Given the description of an element on the screen output the (x, y) to click on. 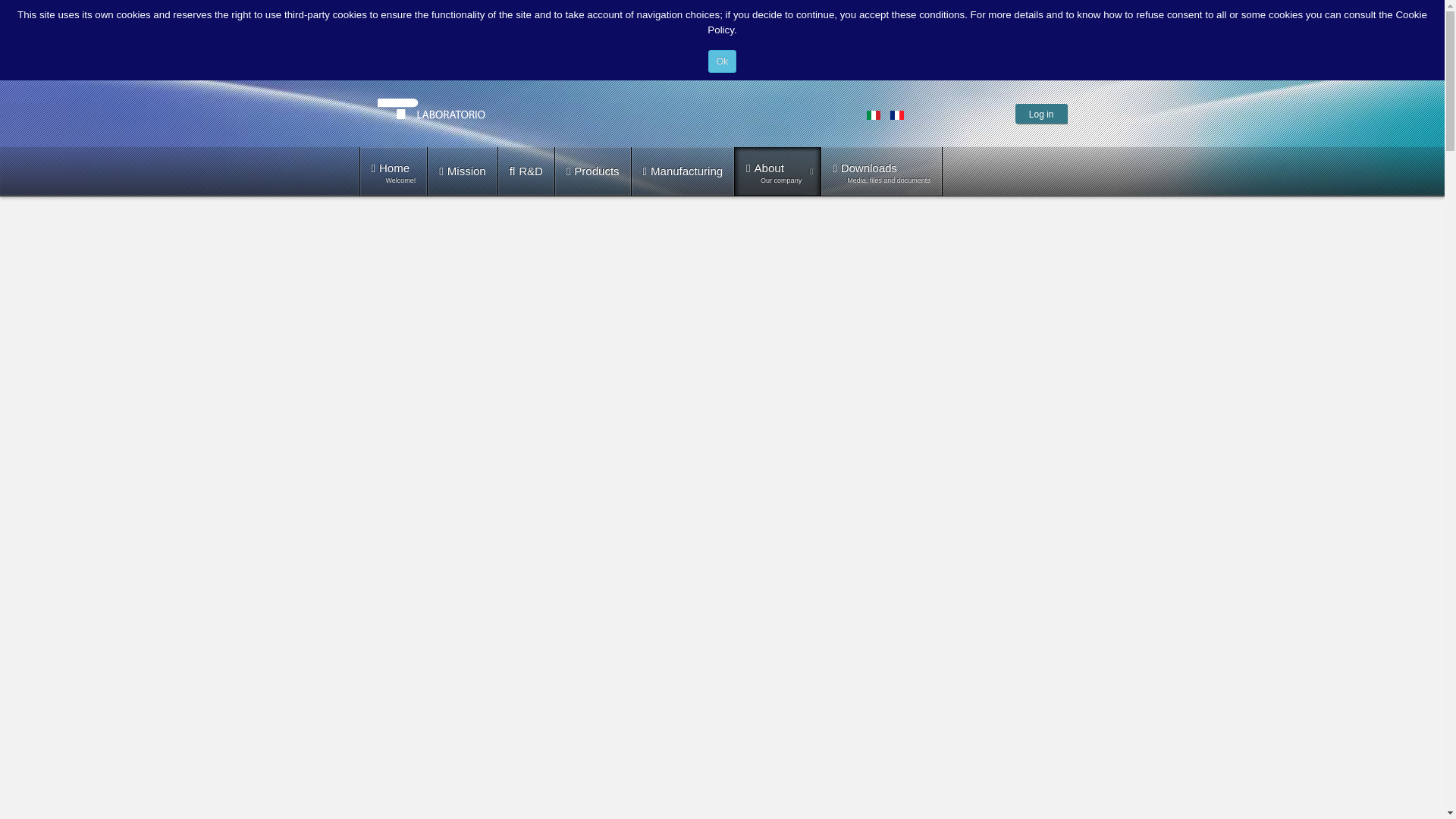
Ok (721, 60)
Manufacturing (683, 171)
Products (881, 171)
Mission (592, 171)
